Given the description of an element on the screen output the (x, y) to click on. 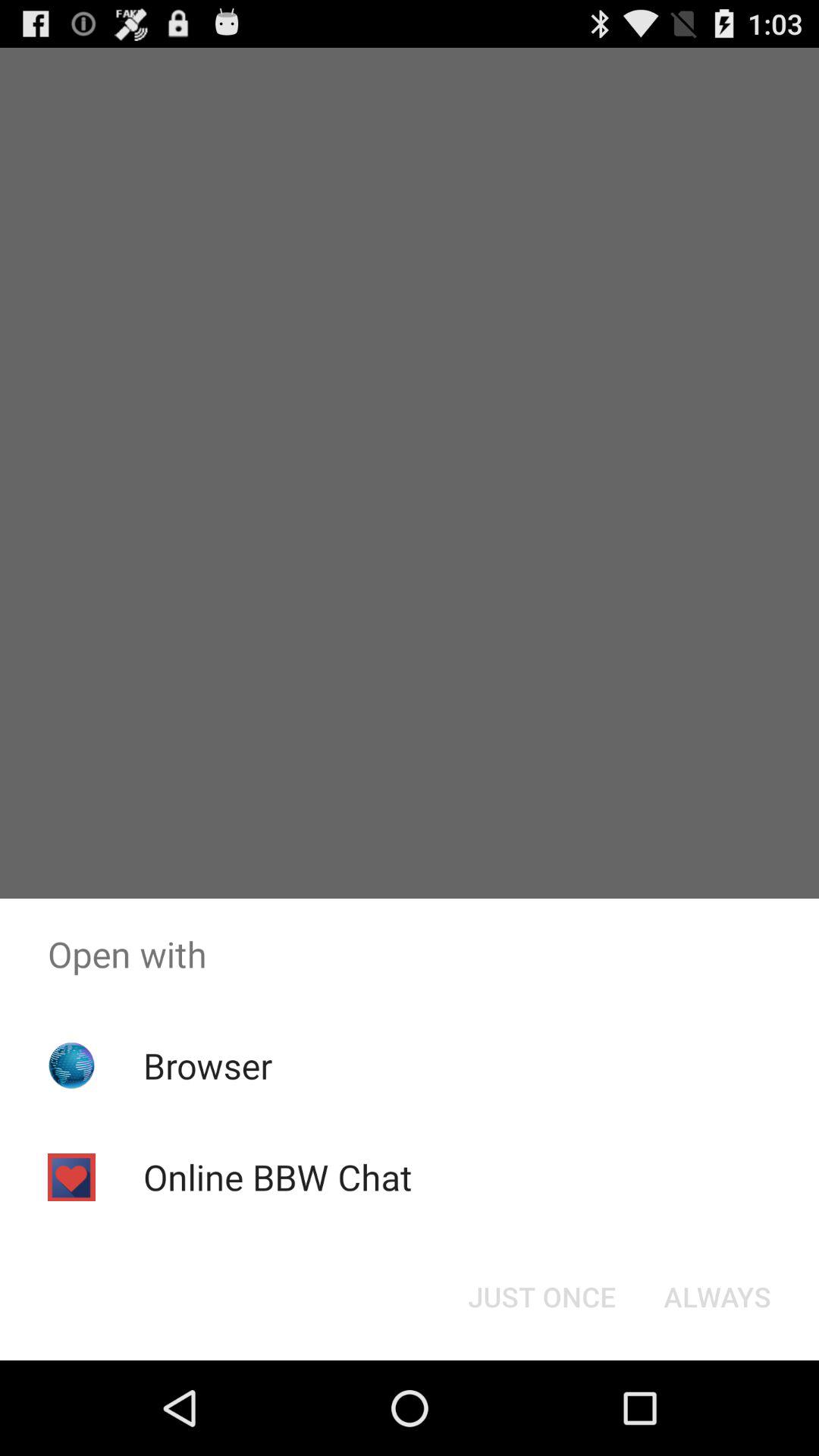
choose the item to the left of the always button (541, 1296)
